Given the description of an element on the screen output the (x, y) to click on. 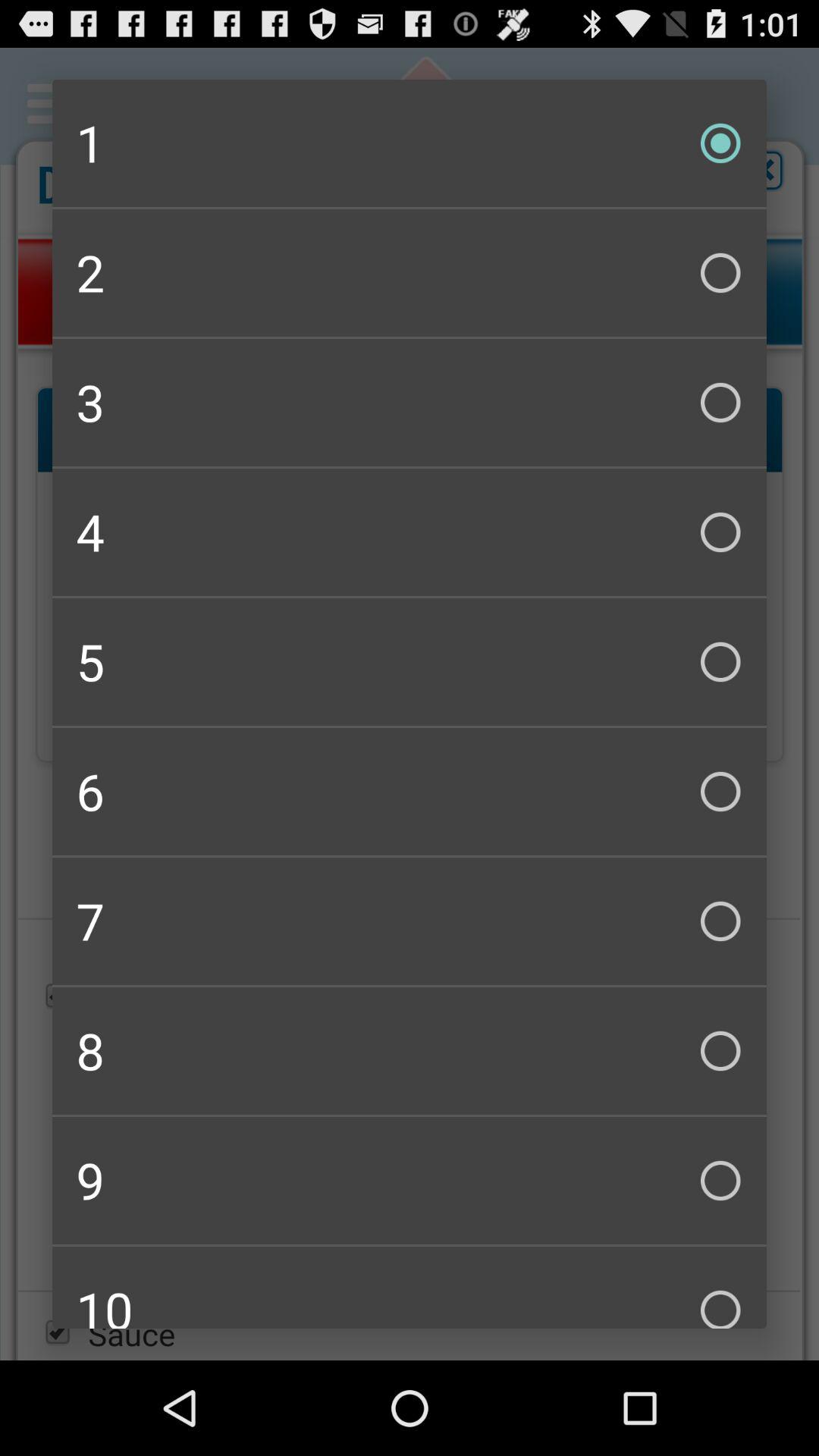
press icon below the 8 checkbox (409, 1180)
